Given the description of an element on the screen output the (x, y) to click on. 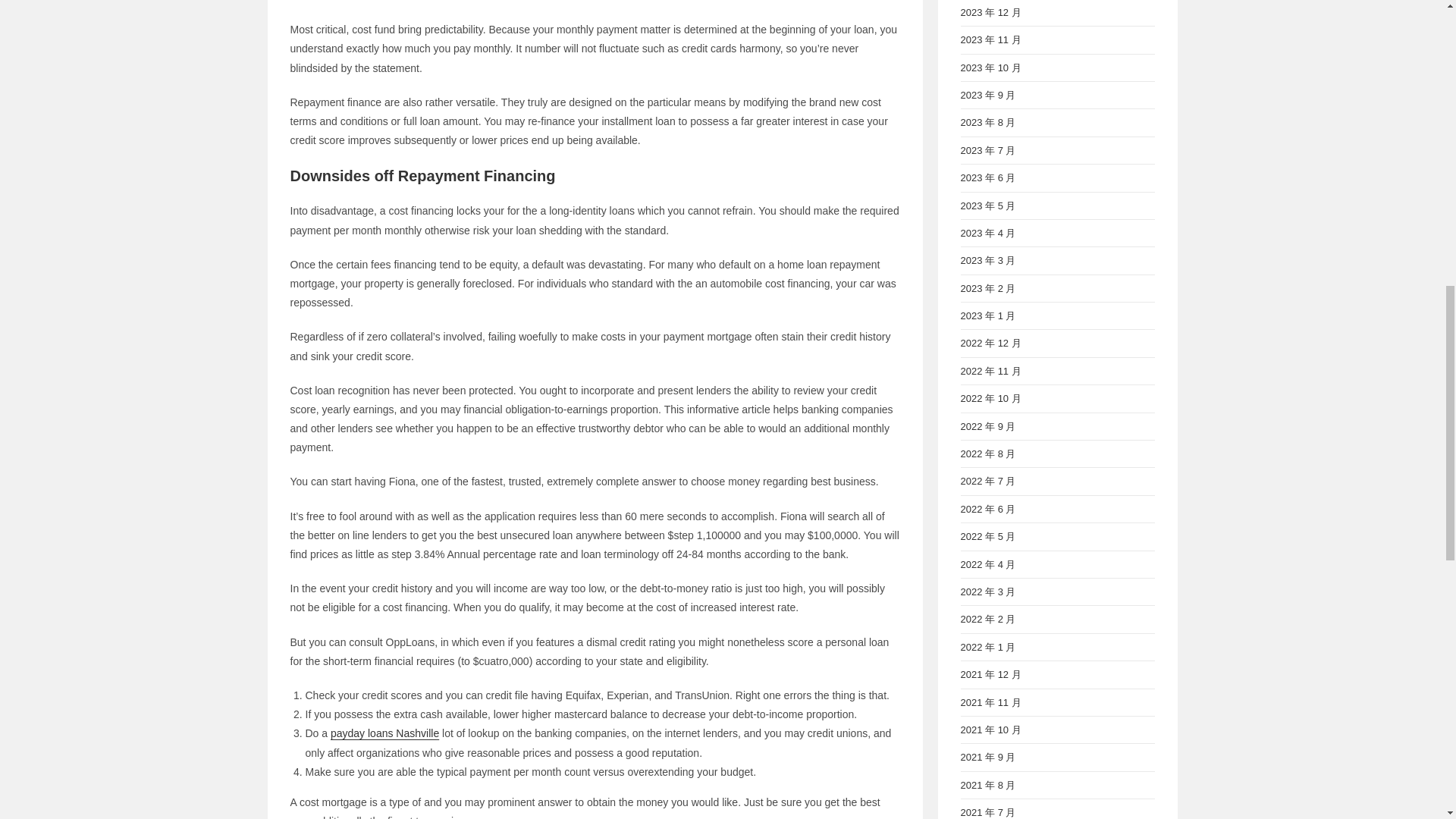
payday loans Nashville (384, 733)
